Given the description of an element on the screen output the (x, y) to click on. 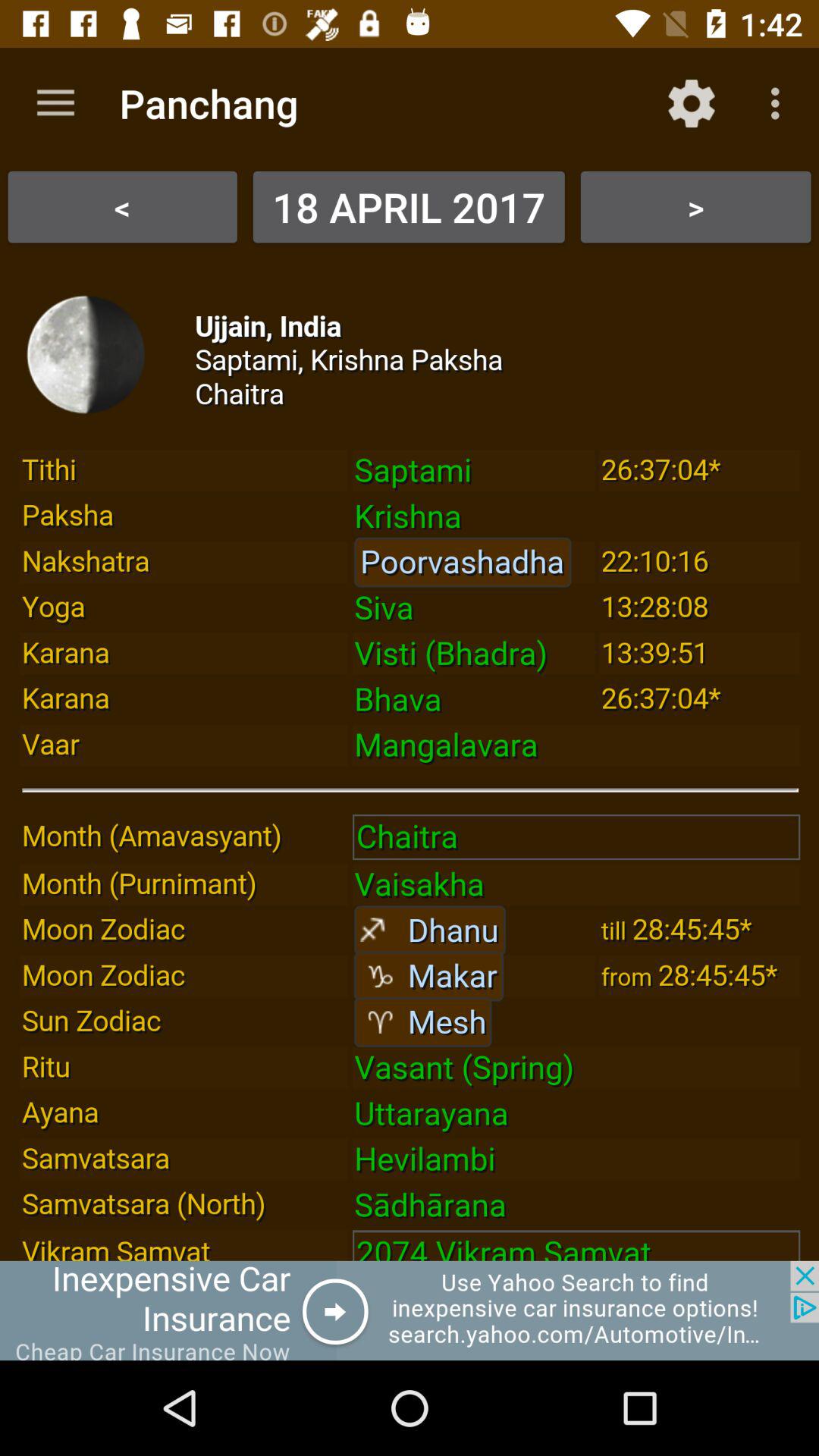
wheather page (409, 757)
